Given the description of an element on the screen output the (x, y) to click on. 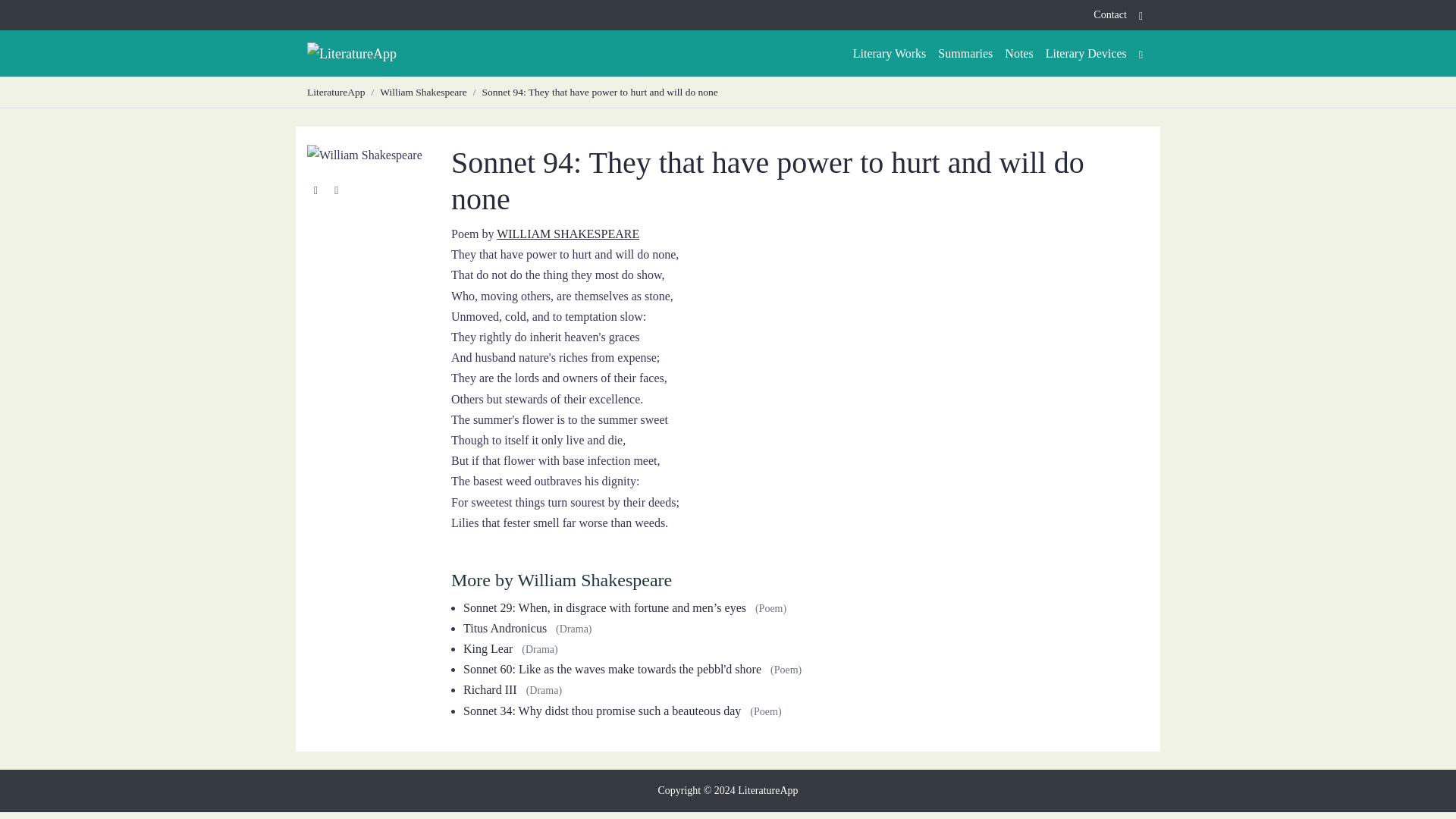
Notes (1018, 52)
Richard III (489, 689)
King Lear (487, 648)
Biography and literary works by William Shakespeare (567, 233)
Sonnet 94: They that have power to hurt and will do none (599, 91)
Summaries (964, 52)
WILLIAM SHAKESPEARE (567, 233)
William Shakespeare (423, 91)
Sonnet 34: Why didst thou promise such a beauteous day (602, 710)
Sonnet 60: Like as the waves make towards the pebbl'd shore (612, 668)
Contact (1109, 15)
Titus Andronicus (505, 627)
Literary Devices (1085, 52)
Literary Works (890, 52)
LiteratureApp (336, 91)
